Given the description of an element on the screen output the (x, y) to click on. 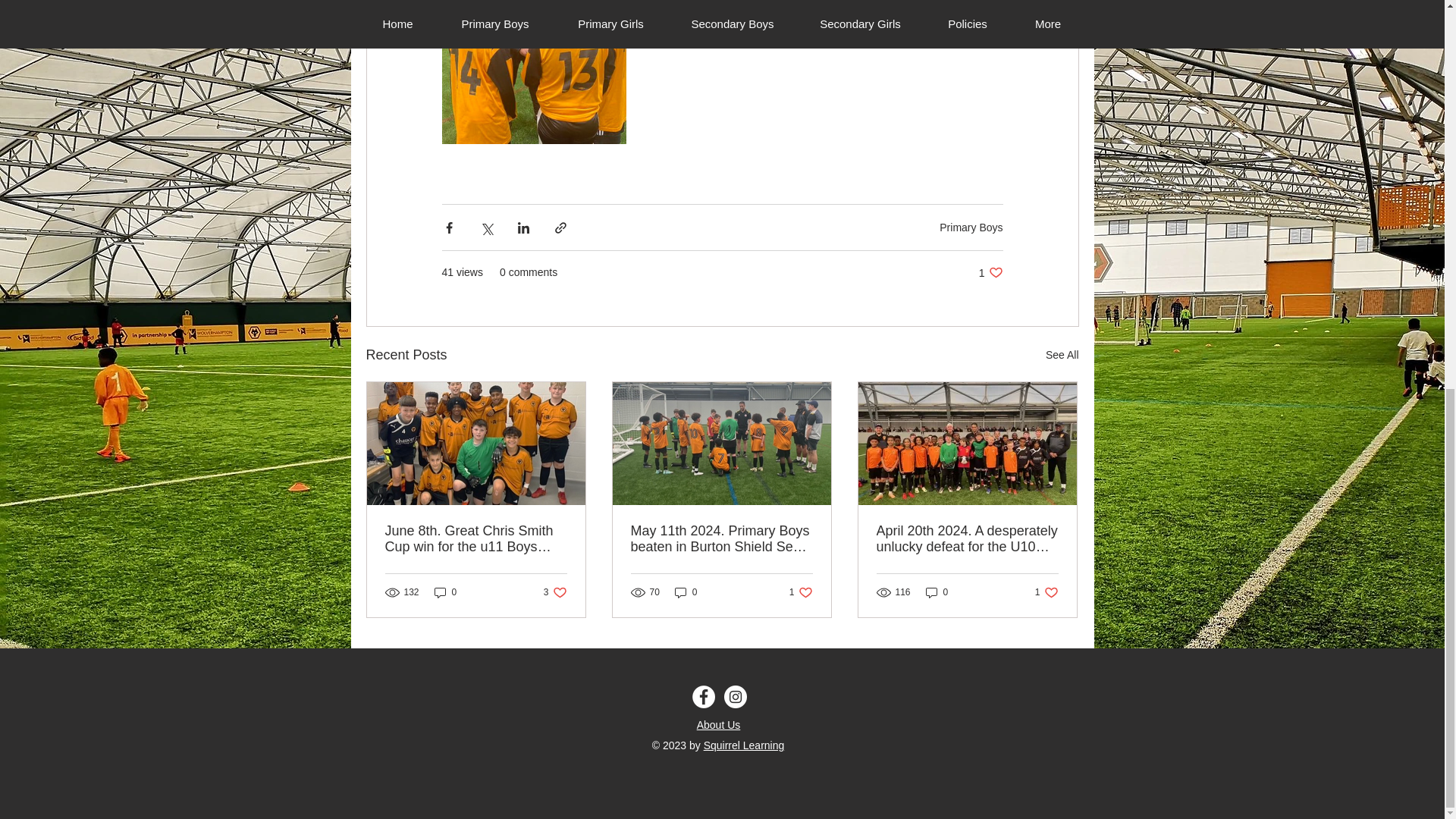
0 (685, 592)
See All (555, 592)
June 8th. Great Chris Smith Cup win for the u11 Boys team. (800, 592)
0 (1061, 354)
Primary Boys (476, 539)
